Given the description of an element on the screen output the (x, y) to click on. 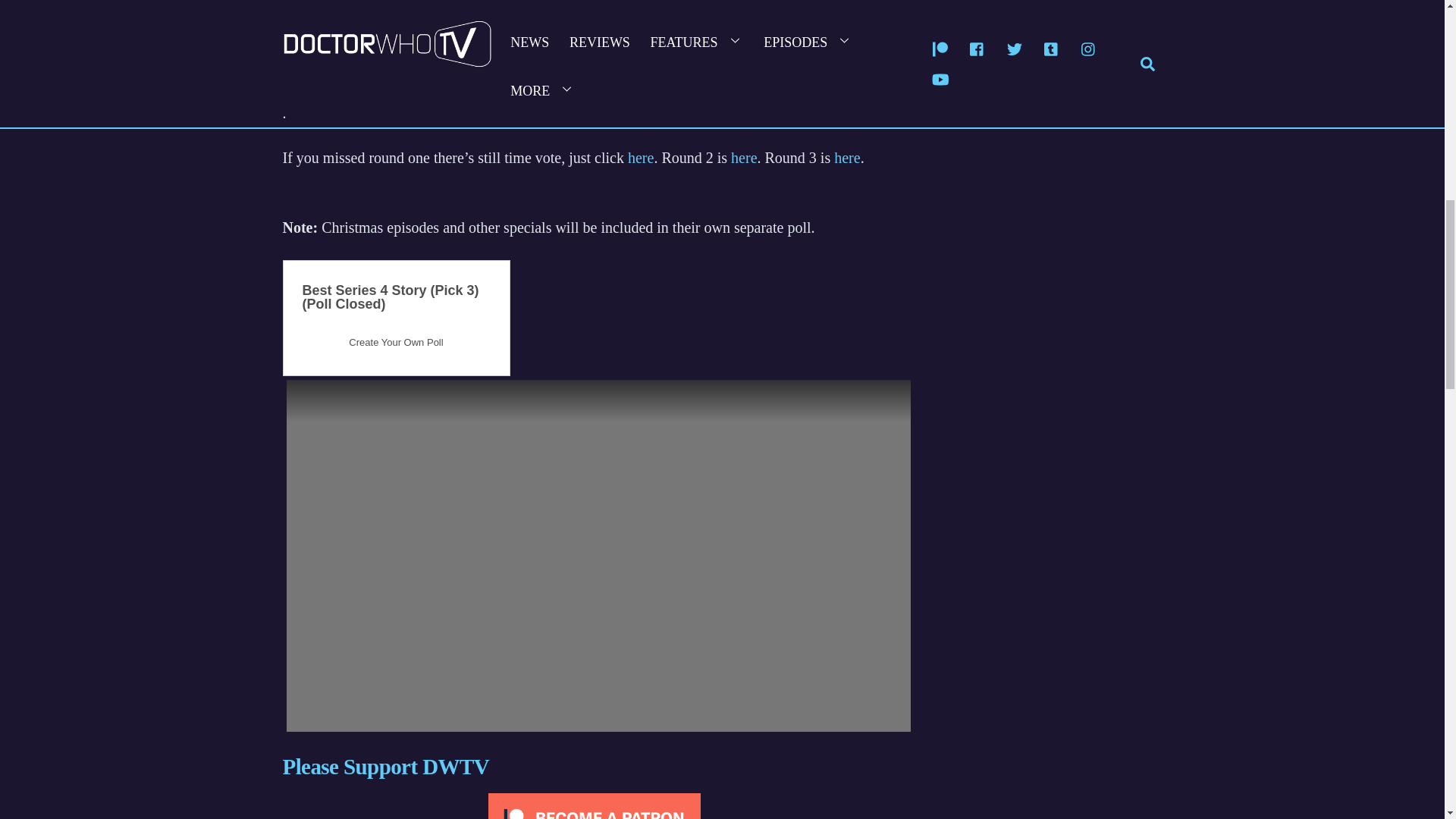
Ultimate Doctor Who: Round 1 (640, 157)
Ultimate Doctor Who: Round 2 (743, 157)
Ultimate Doctor Who: Round 3 (847, 157)
Advertisement (593, 46)
